Given the description of an element on the screen output the (x, y) to click on. 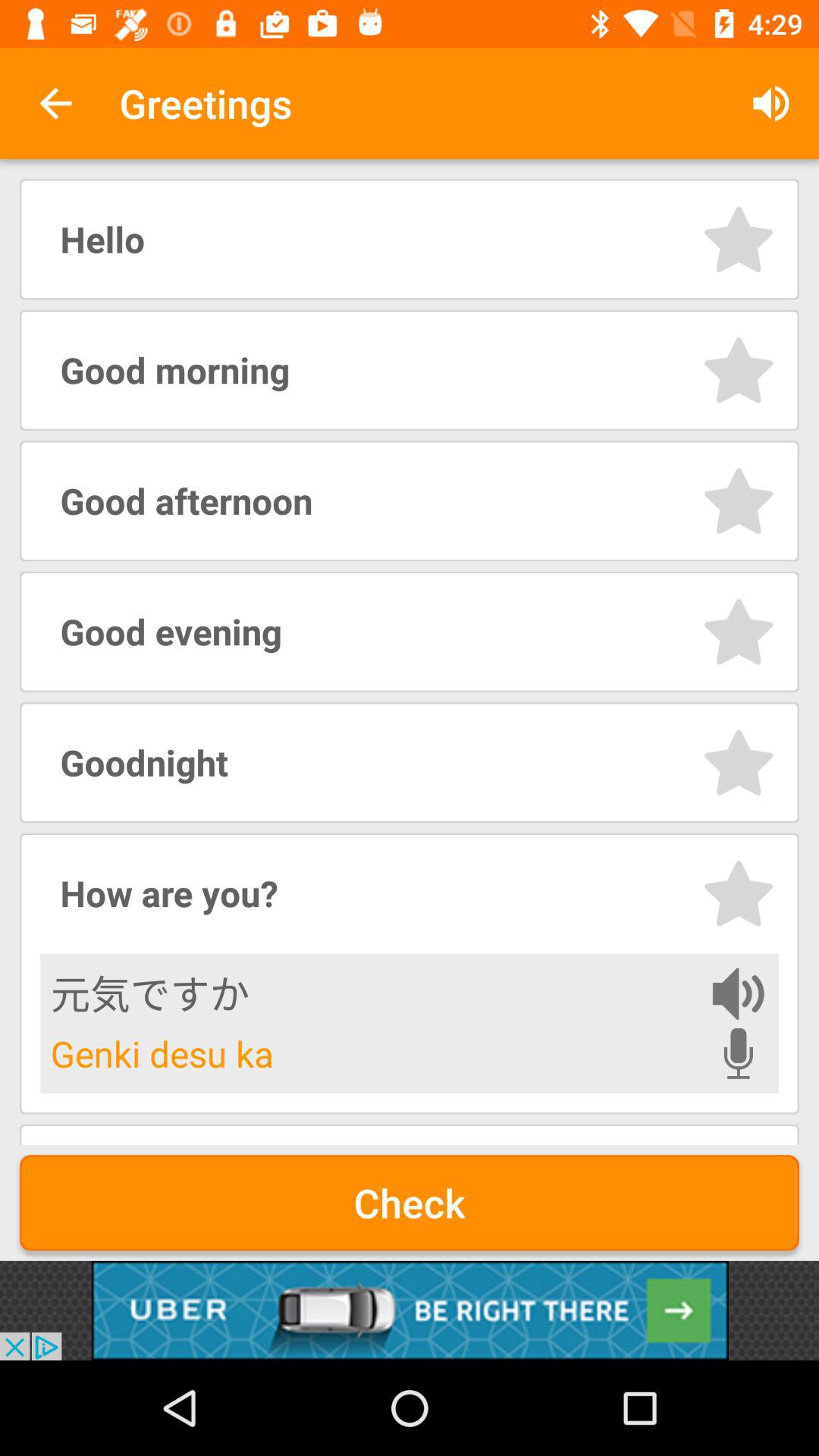
favorite this item (738, 239)
